Given the description of an element on the screen output the (x, y) to click on. 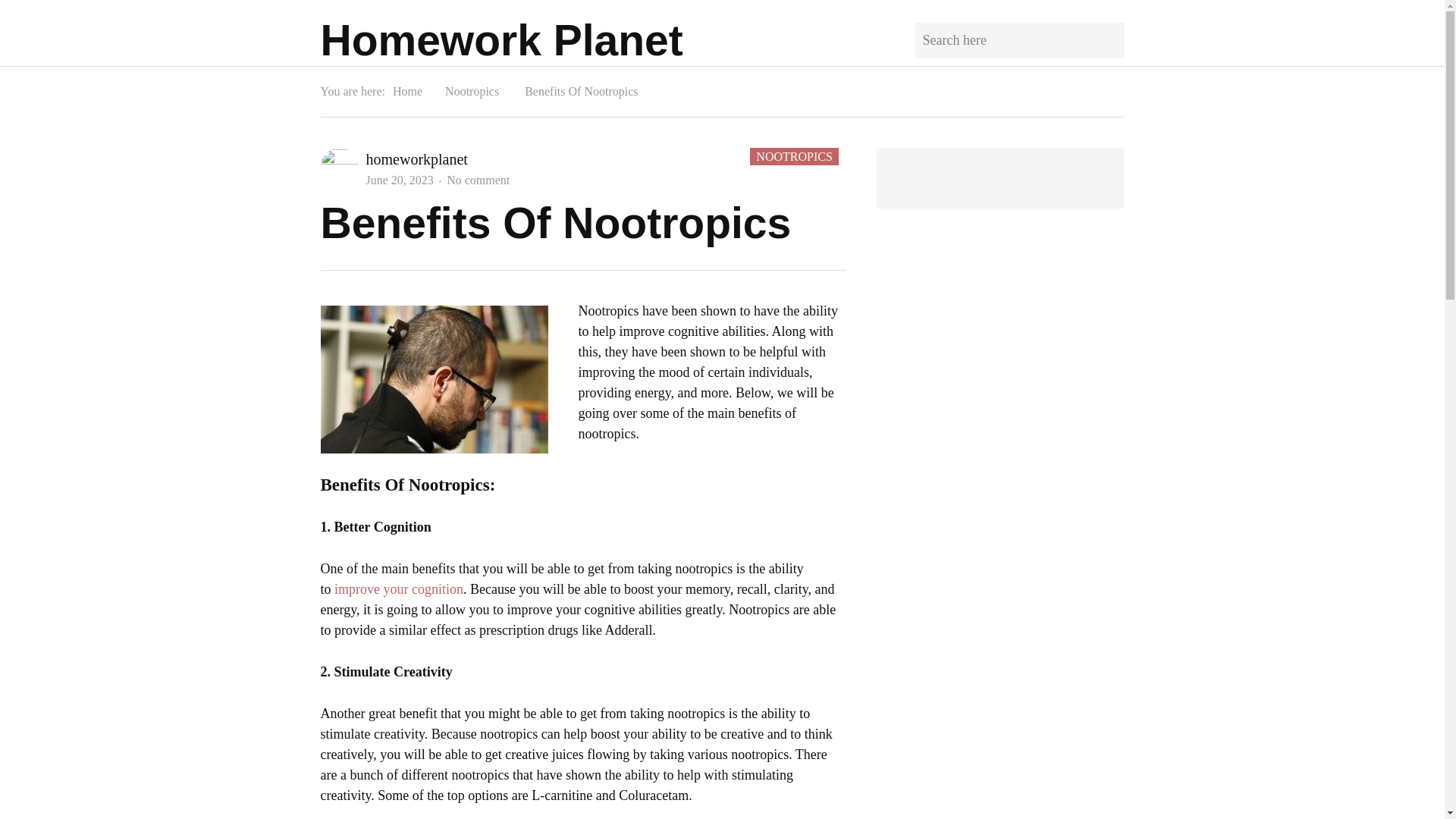
Home (407, 91)
June 20, 2023 (398, 179)
Search (1102, 40)
Nootropics (472, 91)
homeworkplanet (416, 158)
Homework Planet (501, 39)
NOOTROPICS (477, 179)
improve your cognition (793, 156)
